Given the description of an element on the screen output the (x, y) to click on. 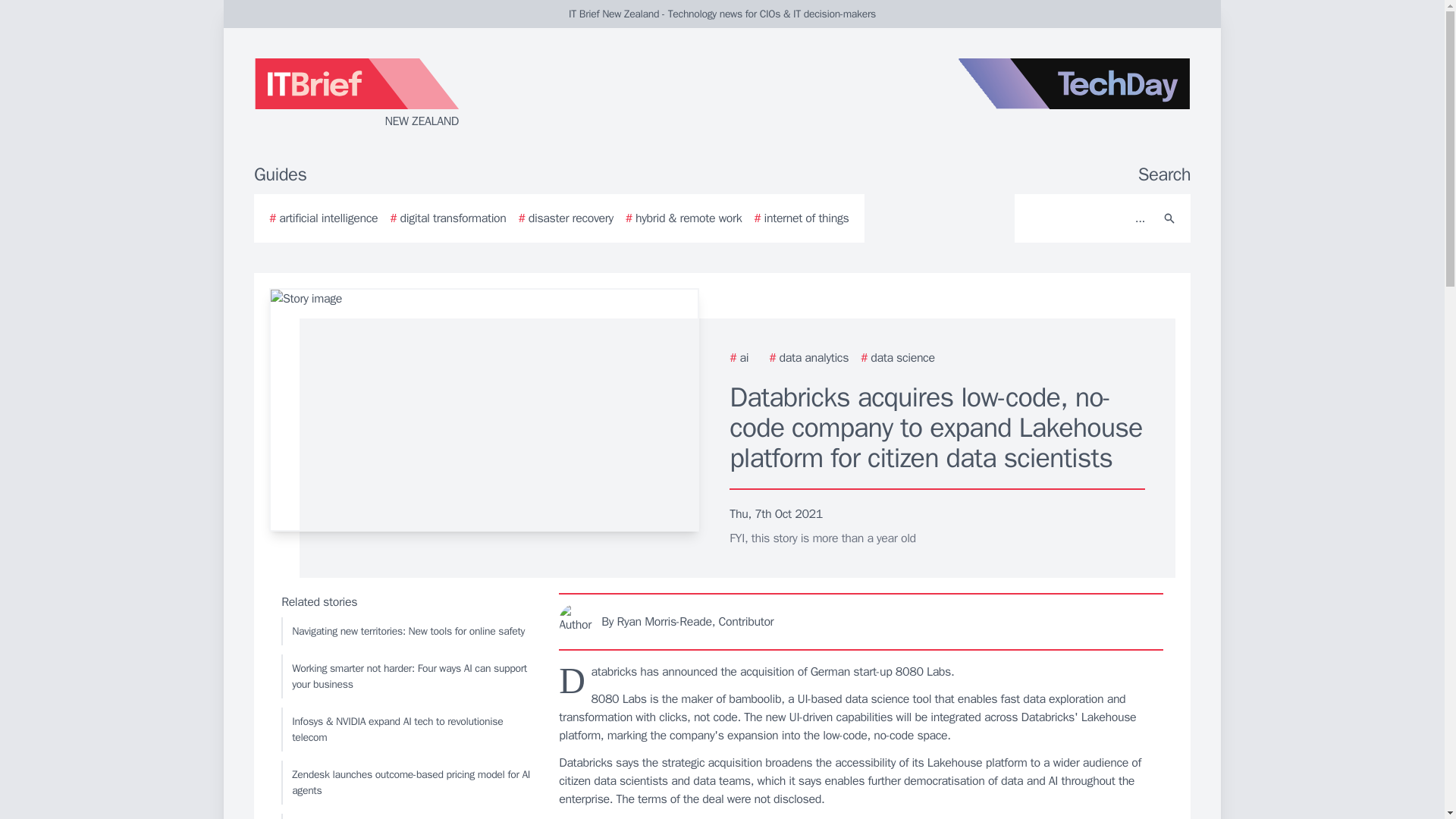
Zendesk launches outcome-based pricing model for AI agents (406, 782)
Datacom named strategic partner for Windows 11 in ANZ region (406, 816)
By Ryan Morris-Reade, Contributor (861, 621)
NEW ZEALAND (435, 94)
Navigating new territories: New tools for online safety (406, 631)
